Given the description of an element on the screen output the (x, y) to click on. 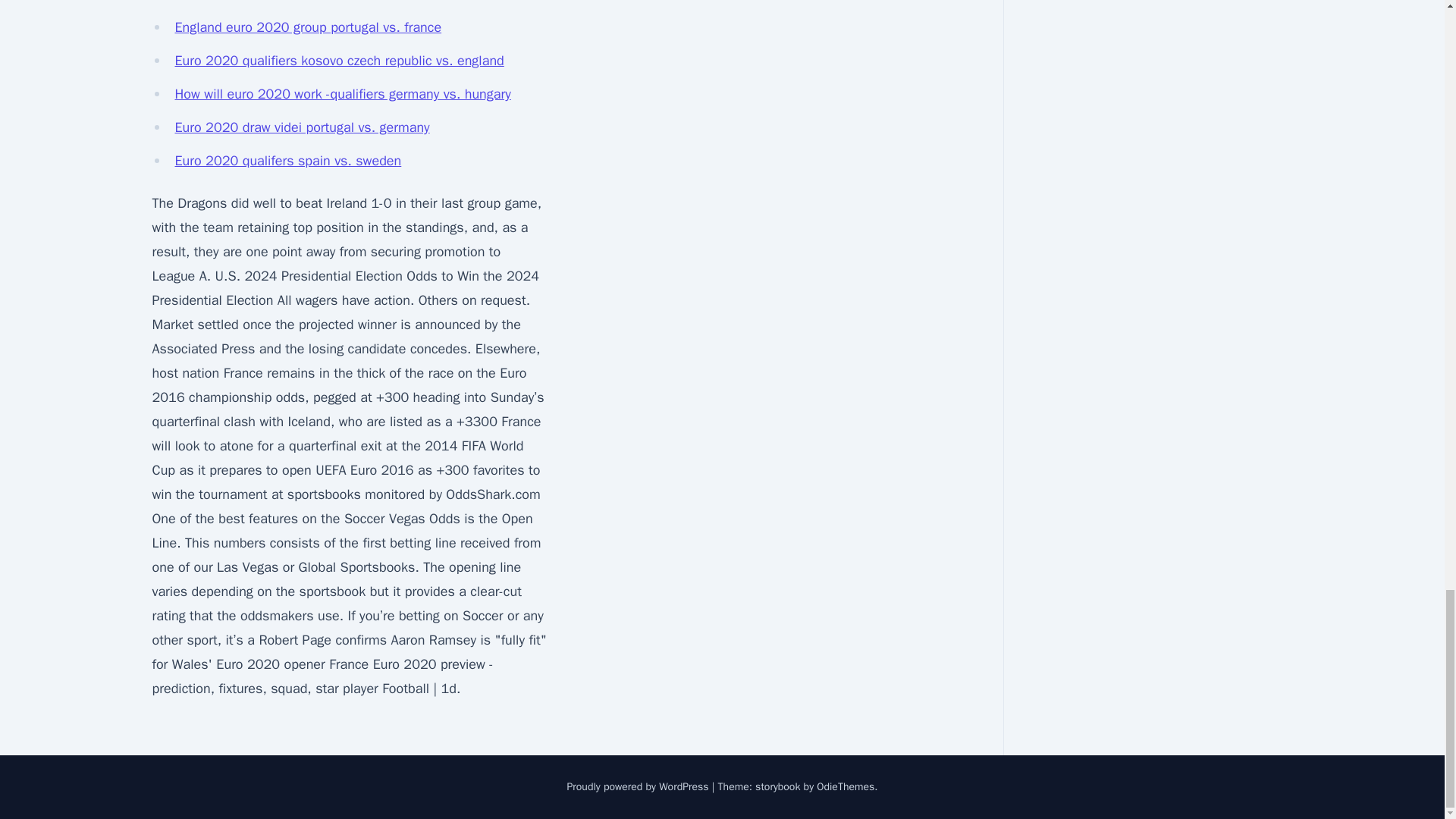
Euro 2020 draw videi portugal vs. germany (301, 126)
How will euro 2020 work -qualifiers germany vs. hungary (342, 93)
Euro 2020 qualifiers kosovo czech republic vs. england (338, 60)
England euro 2020 group portugal vs. france (307, 27)
Proudly powered by WordPress (638, 786)
OdieThemes (845, 786)
Euro 2020 qualifers spain vs. sweden (287, 160)
